Given the description of an element on the screen output the (x, y) to click on. 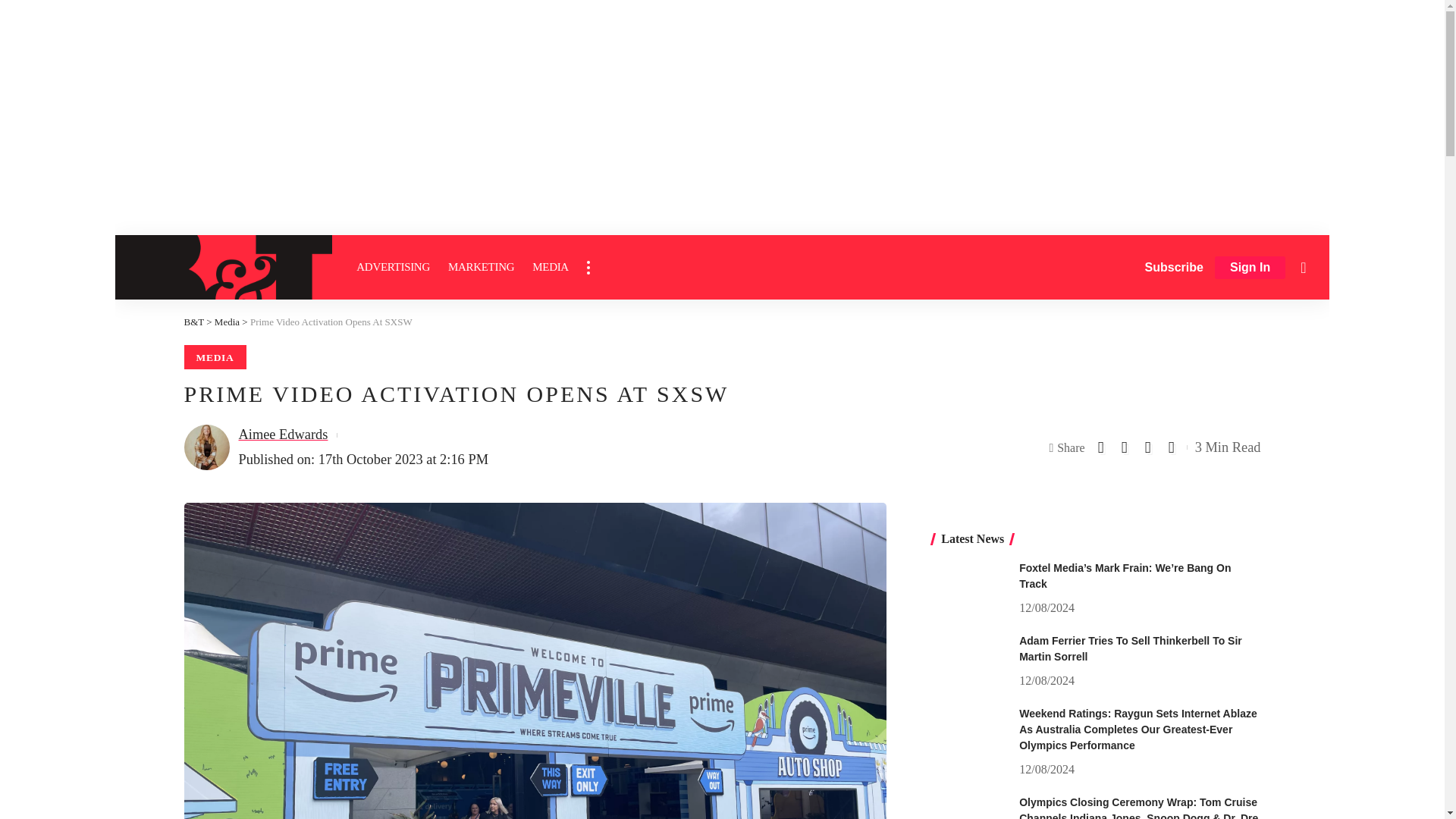
Go to the Media Category archives. (227, 321)
MARKETING (480, 267)
Sign In (1249, 267)
Subscribe (1174, 267)
ADVERTISING (393, 267)
